Given the description of an element on the screen output the (x, y) to click on. 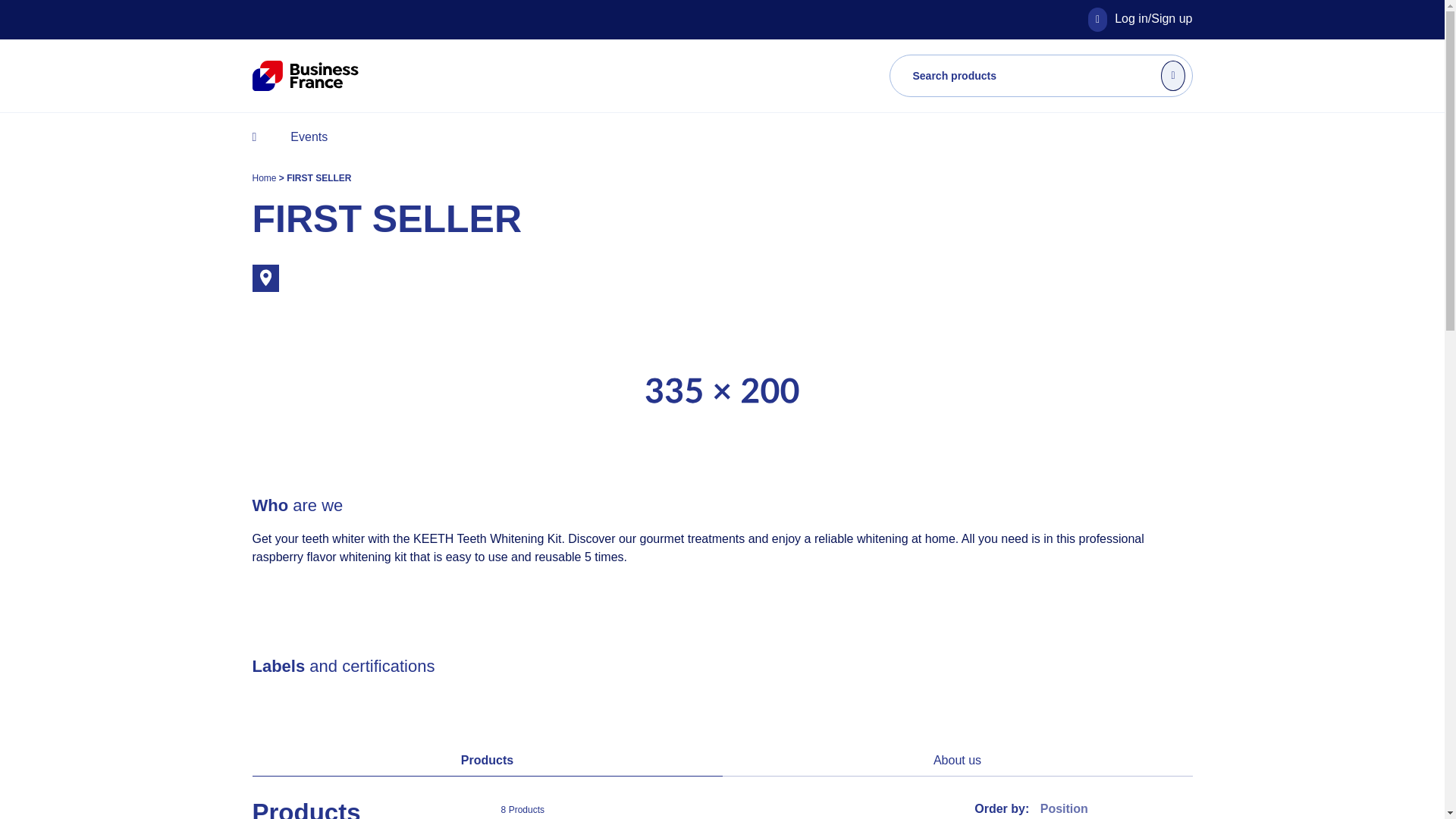
Events (308, 136)
Home (264, 177)
About us (957, 759)
Home (264, 177)
Products (487, 759)
